Given the description of an element on the screen output the (x, y) to click on. 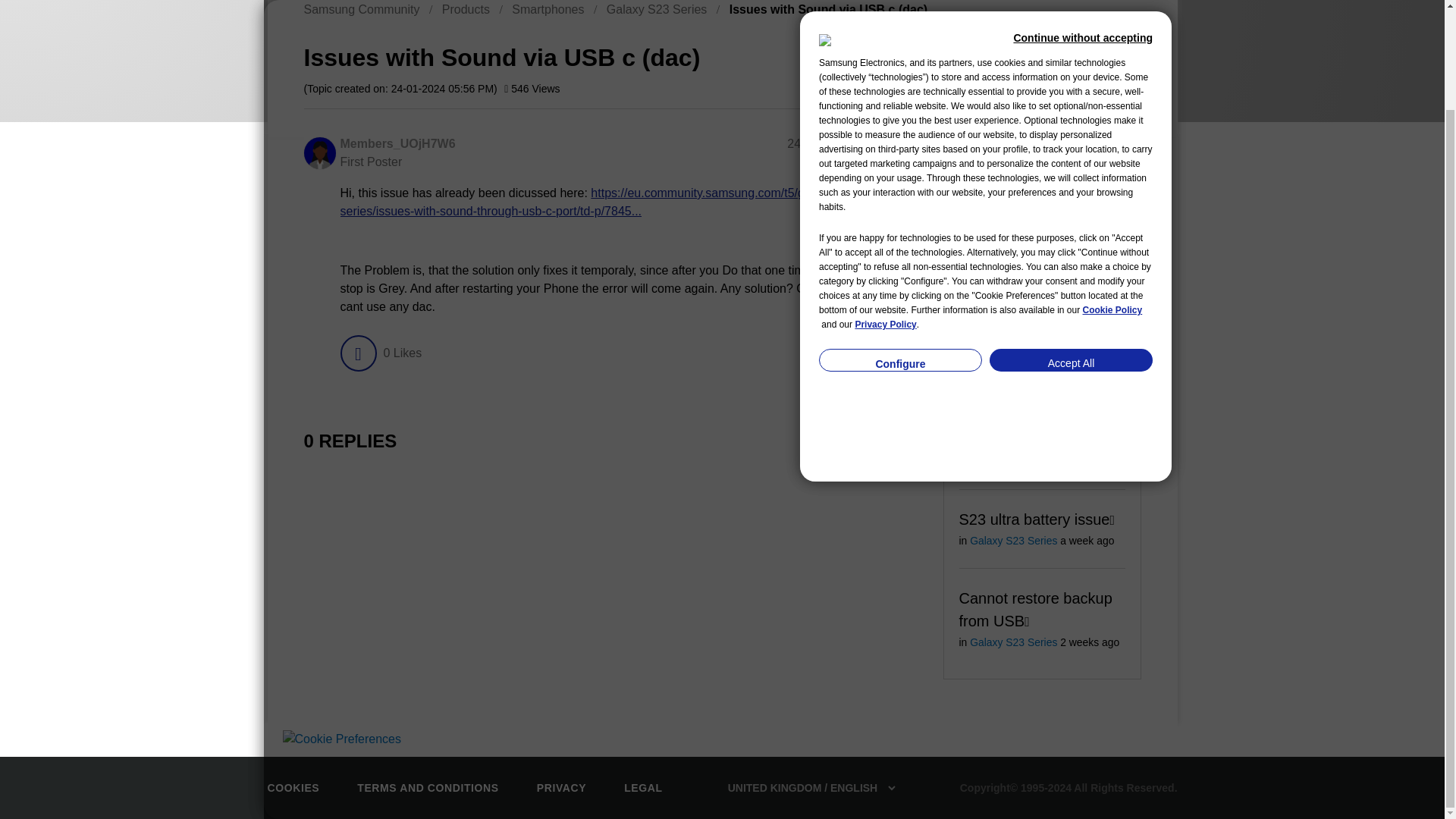
Show option menu (1072, 54)
Galaxy S23 Series (657, 9)
REPLY (874, 353)
Smartphones (547, 9)
Show option menu (912, 145)
Products (465, 9)
The total number of likes this post has received. (401, 352)
Click here to give likes to this post. (357, 352)
Galaxy S23 Series (1013, 235)
s23 dual sim not working (1013, 303)
